Given the description of an element on the screen output the (x, y) to click on. 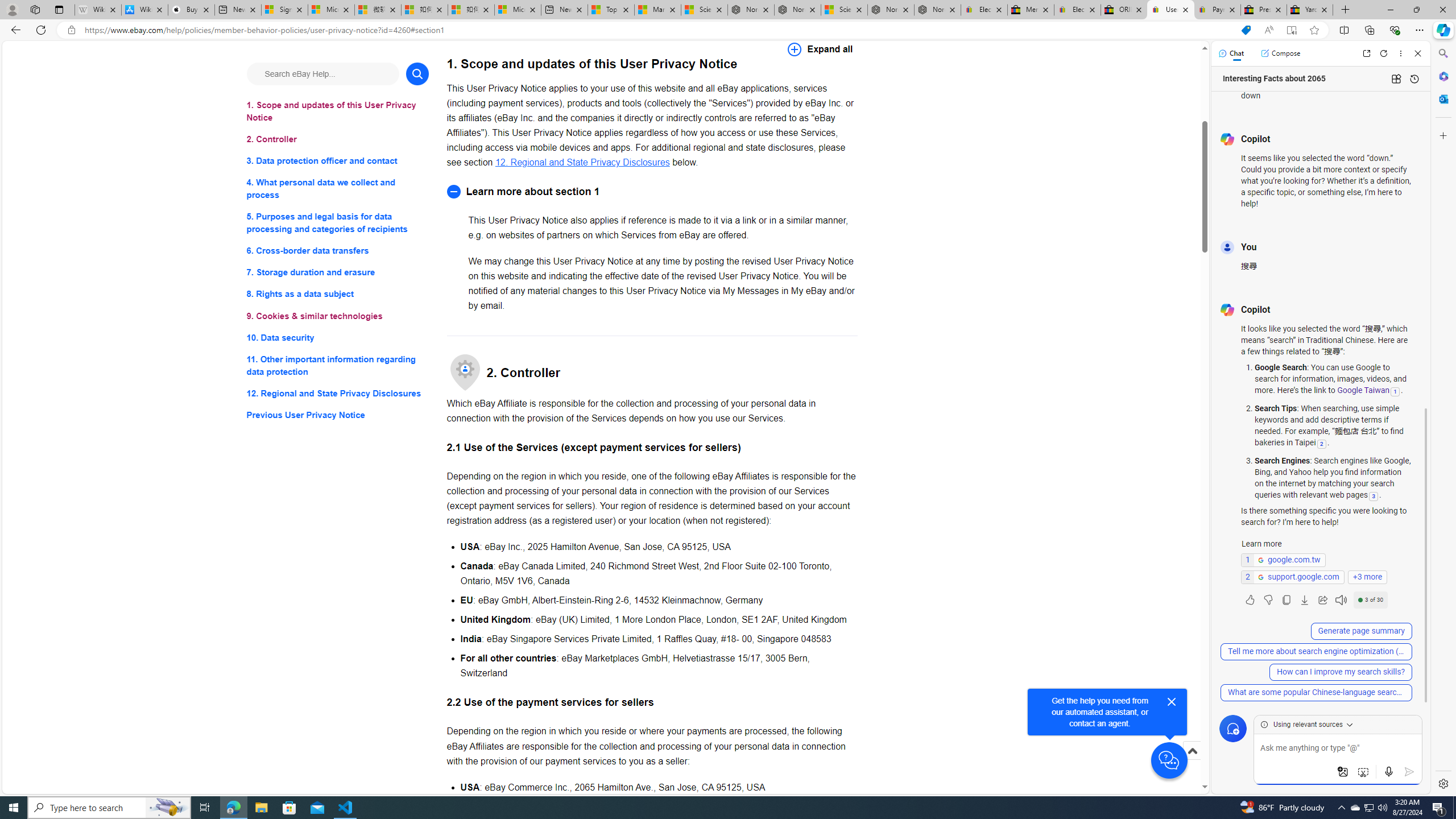
Scroll to top (1191, 750)
